Given the description of an element on the screen output the (x, y) to click on. 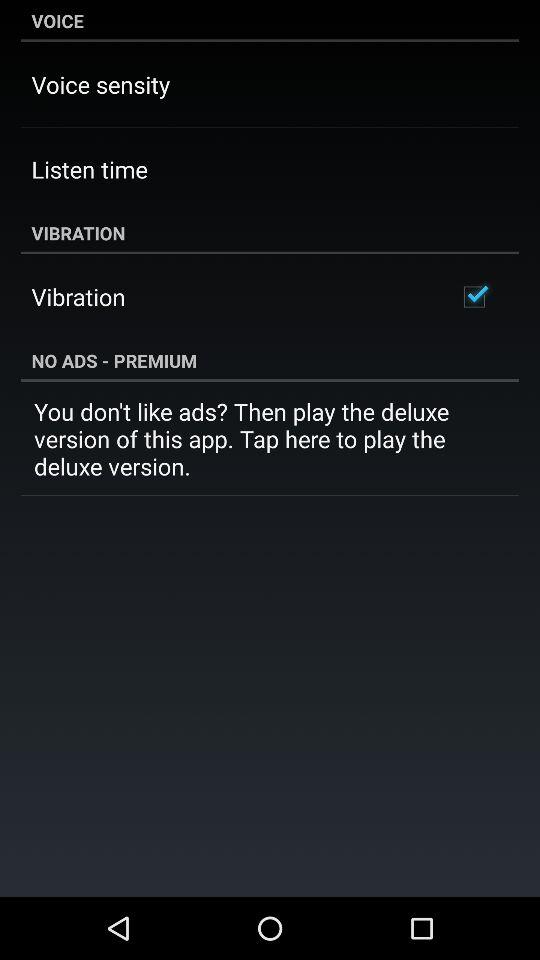
choose the no ads - premium item (270, 360)
